Given the description of an element on the screen output the (x, y) to click on. 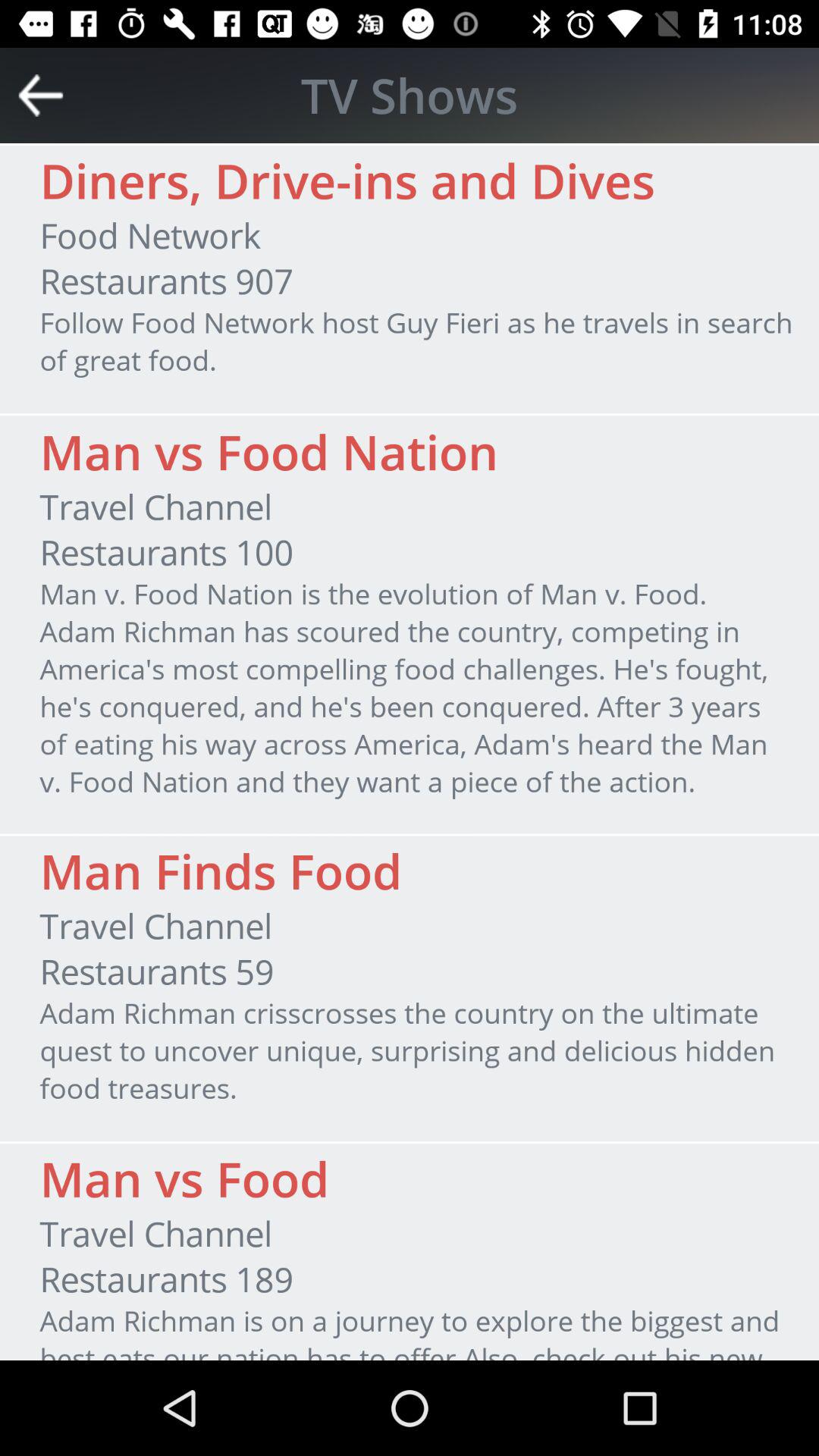
turn on the icon below the travel channel (156, 971)
